Given the description of an element on the screen output the (x, y) to click on. 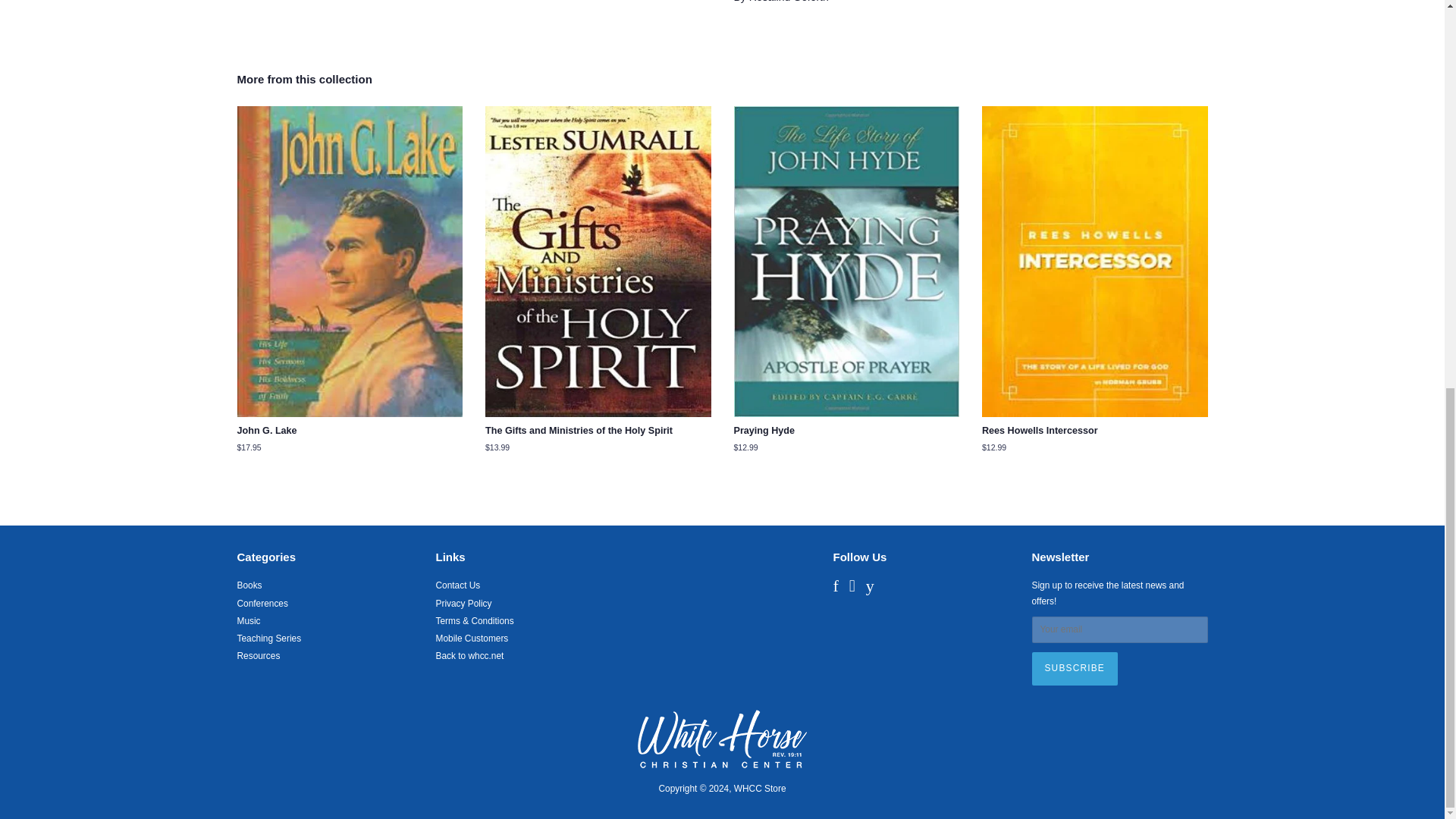
Subscribe (1073, 668)
Contact Us (457, 584)
Books (248, 584)
Conferences (260, 603)
Resources (257, 655)
Privacy Policy (463, 603)
Music (247, 620)
Teaching Series (268, 638)
